Given the description of an element on the screen output the (x, y) to click on. 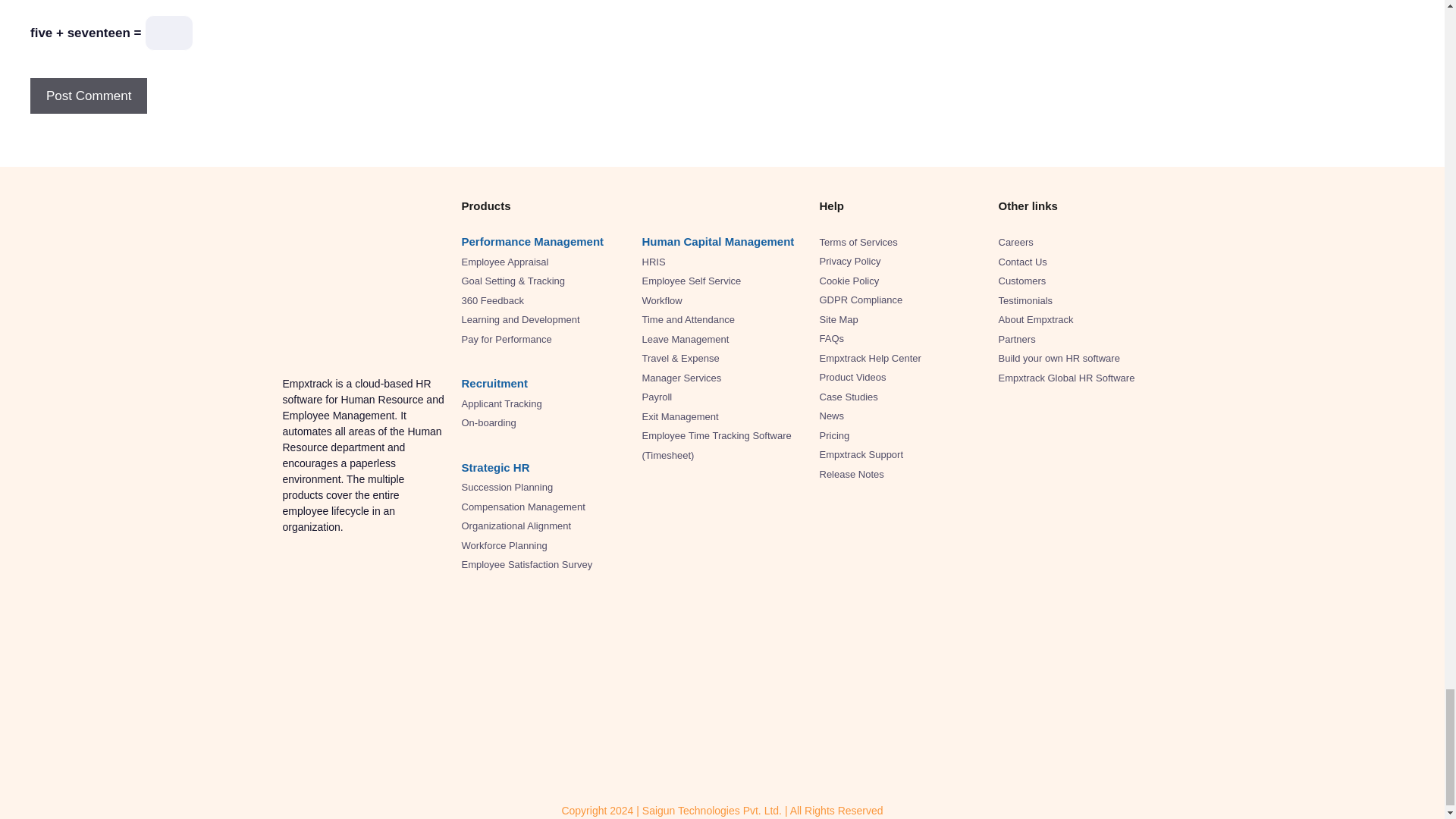
Empxtrack goal setting and tracking software (512, 280)
Empxtrack Strategic HR Solutions (495, 467)
Empxtrac 360 feedback software (491, 300)
Empxtrack performance management solution (532, 241)
Empxtrack on boarding software (488, 422)
Post Comment (88, 95)
Empxtrack Appraisal software (504, 261)
Empxtrack succession planning software (507, 487)
Empxtrack Talent management solutions (494, 382)
